Given the description of an element on the screen output the (x, y) to click on. 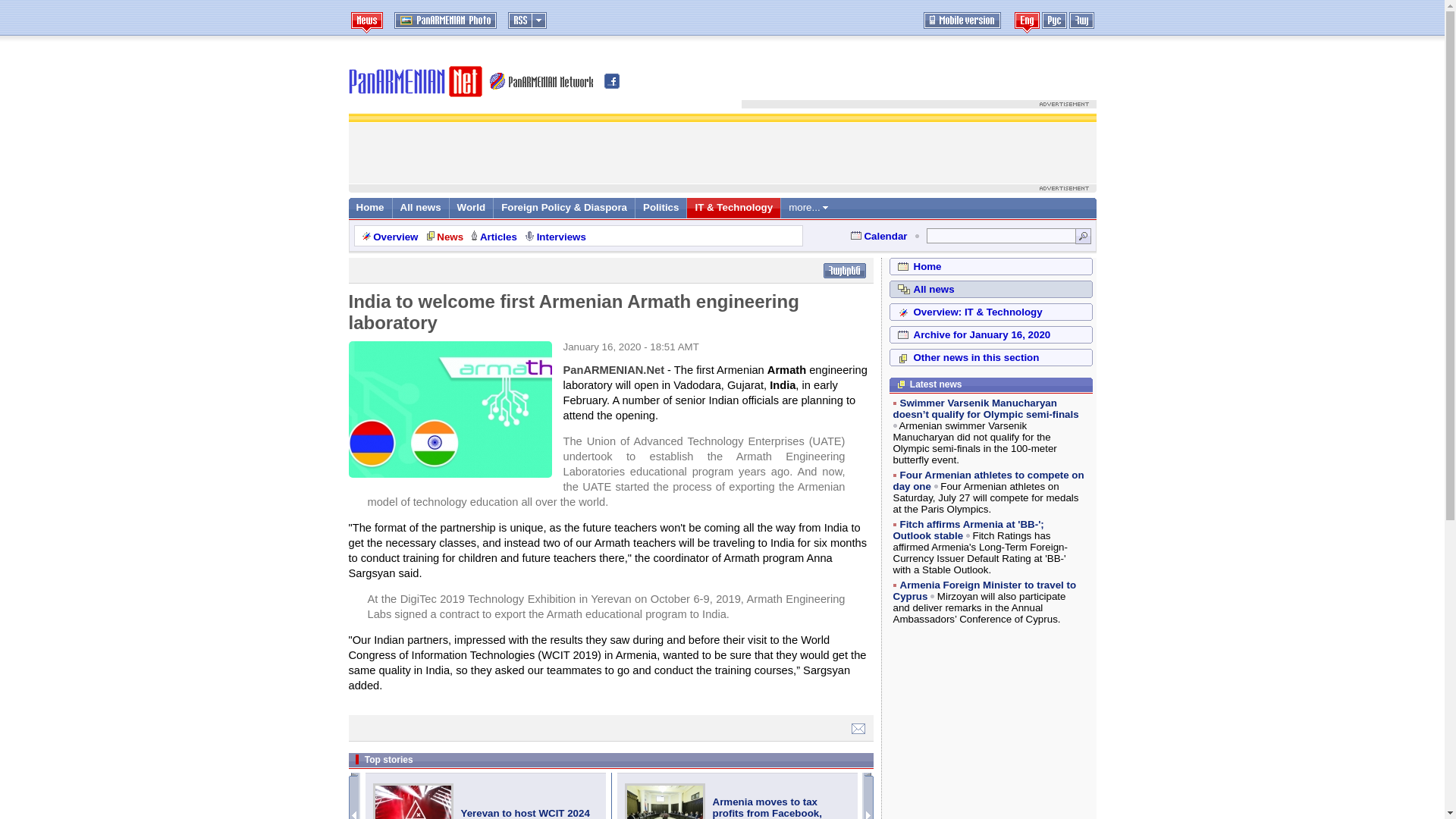
Home (370, 206)
more... (808, 206)
Interviews (561, 236)
News (449, 236)
World (471, 206)
Overview (394, 236)
Search (1082, 235)
Calendar (885, 235)
Articles (498, 236)
Armenia moves to tax profits from Facebook, Google (767, 807)
Politics (660, 206)
Yerevan to host WCIT 2024 (412, 800)
Mobile version (962, 20)
In English (1026, 22)
